Given the description of an element on the screen output the (x, y) to click on. 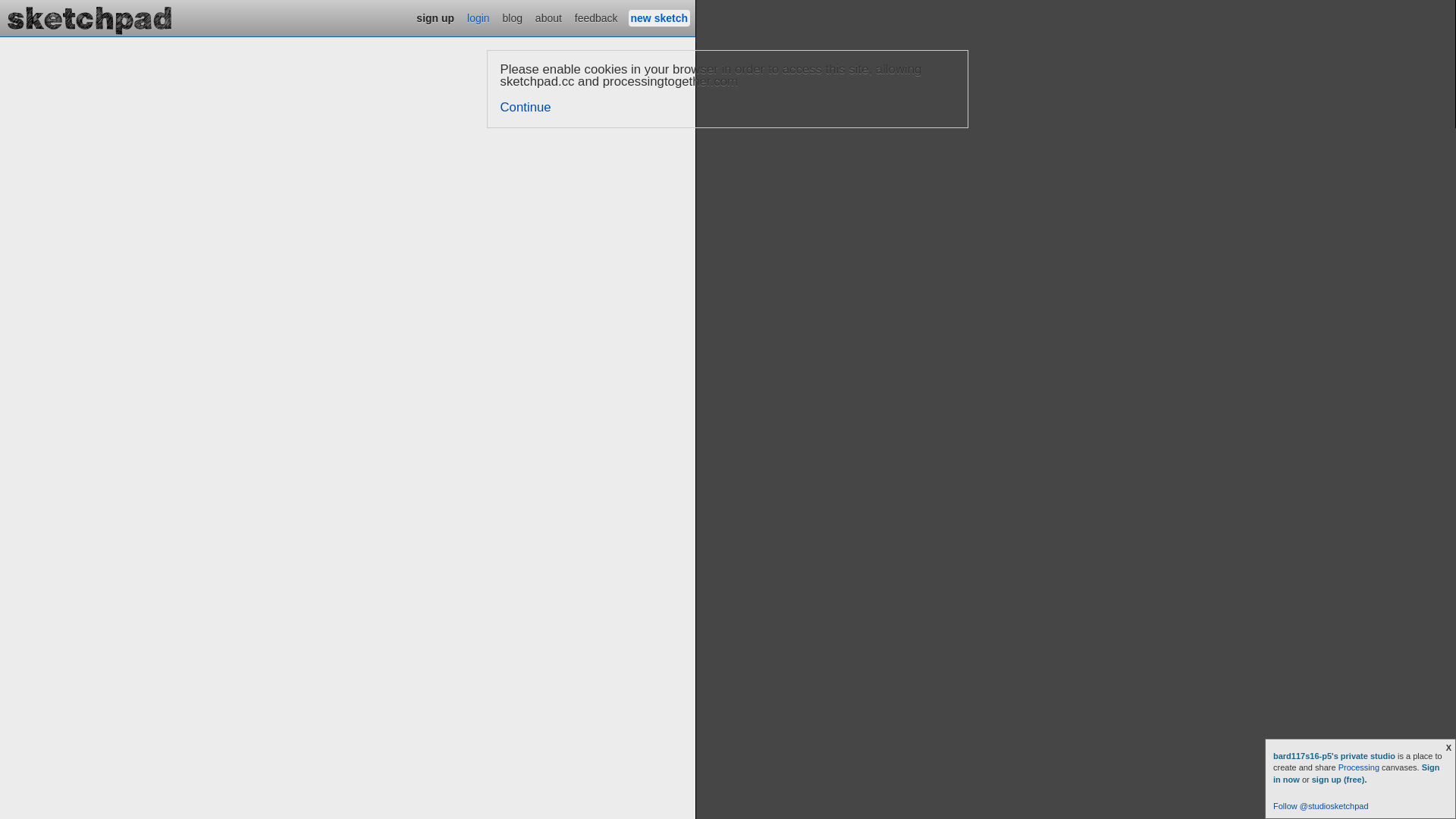
bard117s16-p5's private studio Element type: text (1335, 755)
Studio Sketchpad is Processing on Etherpad Element type: hover (90, 18)
Continue Element type: text (525, 107)
sign up Element type: text (435, 17)
login Element type: text (478, 17)
new sketch Element type: text (659, 17)
about Element type: text (548, 17)
blog Element type: text (512, 17)
feedback Element type: text (596, 17)
Follow @studiosketchpad Element type: text (1320, 805)
Processing Element type: text (1358, 766)
Sign in now Element type: text (1356, 772)
sign up (free) Element type: text (1338, 779)
